Given the description of an element on the screen output the (x, y) to click on. 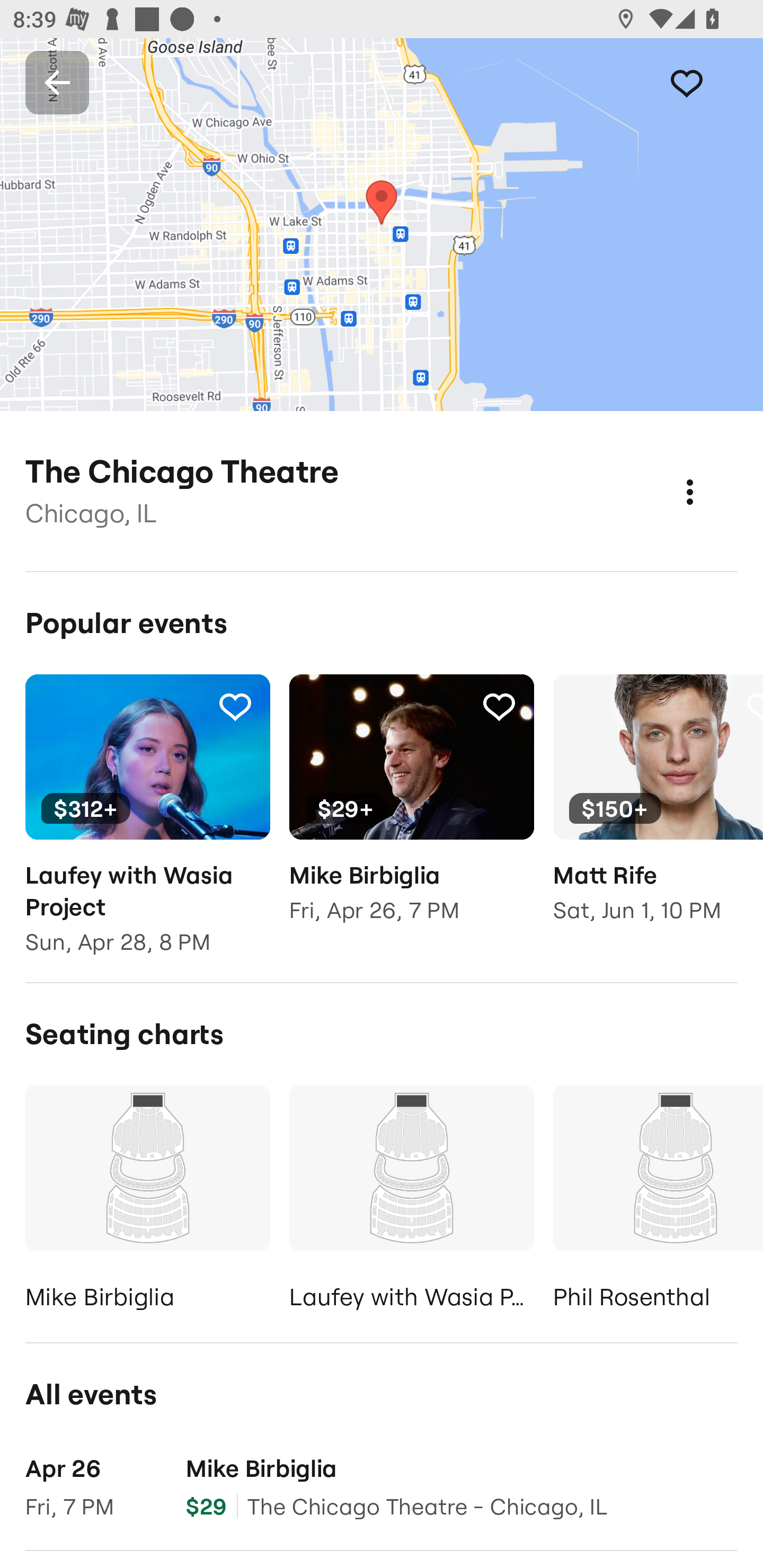
Back (57, 81)
Tracking (705, 81)
See more options (708, 472)
Tracking $29+ Mike Birbiglia Fri, Apr 26, 7 PM (411, 811)
Tracking $150+ Matt Rife Sat, Jun 1, 10 PM (658, 811)
Tracking (234, 705)
Tracking (498, 705)
Mike Birbiglia (147, 1201)
Laufey with Wasia Project (411, 1201)
Phil Rosenthal (658, 1201)
